Given the description of an element on the screen output the (x, y) to click on. 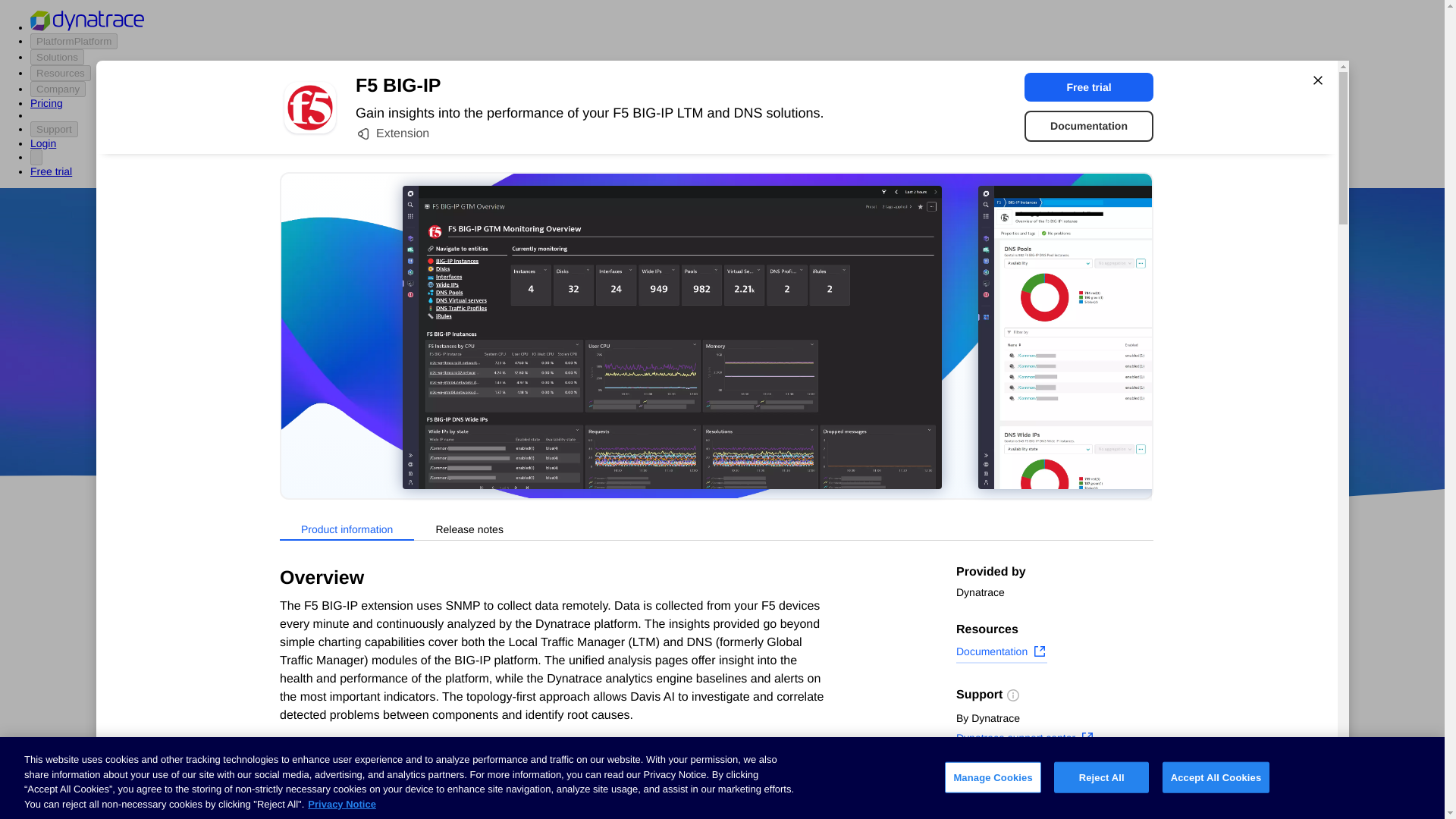
Copy page link (1003, 806)
DevOps (829, 418)
Dynatrace support center (1025, 740)
Documentation (1089, 125)
Subscribe to new releases (1054, 782)
360performance (840, 375)
Advanced SSL Certificate Check for Dynatrace (606, 731)
 certificate ssl synthetic test (607, 793)
Google Cloud (751, 418)
AWS (637, 418)
Open source (903, 418)
Azure (681, 418)
360performance (840, 375)
Free trial (1089, 86)
Documentation (1001, 653)
